Given the description of an element on the screen output the (x, y) to click on. 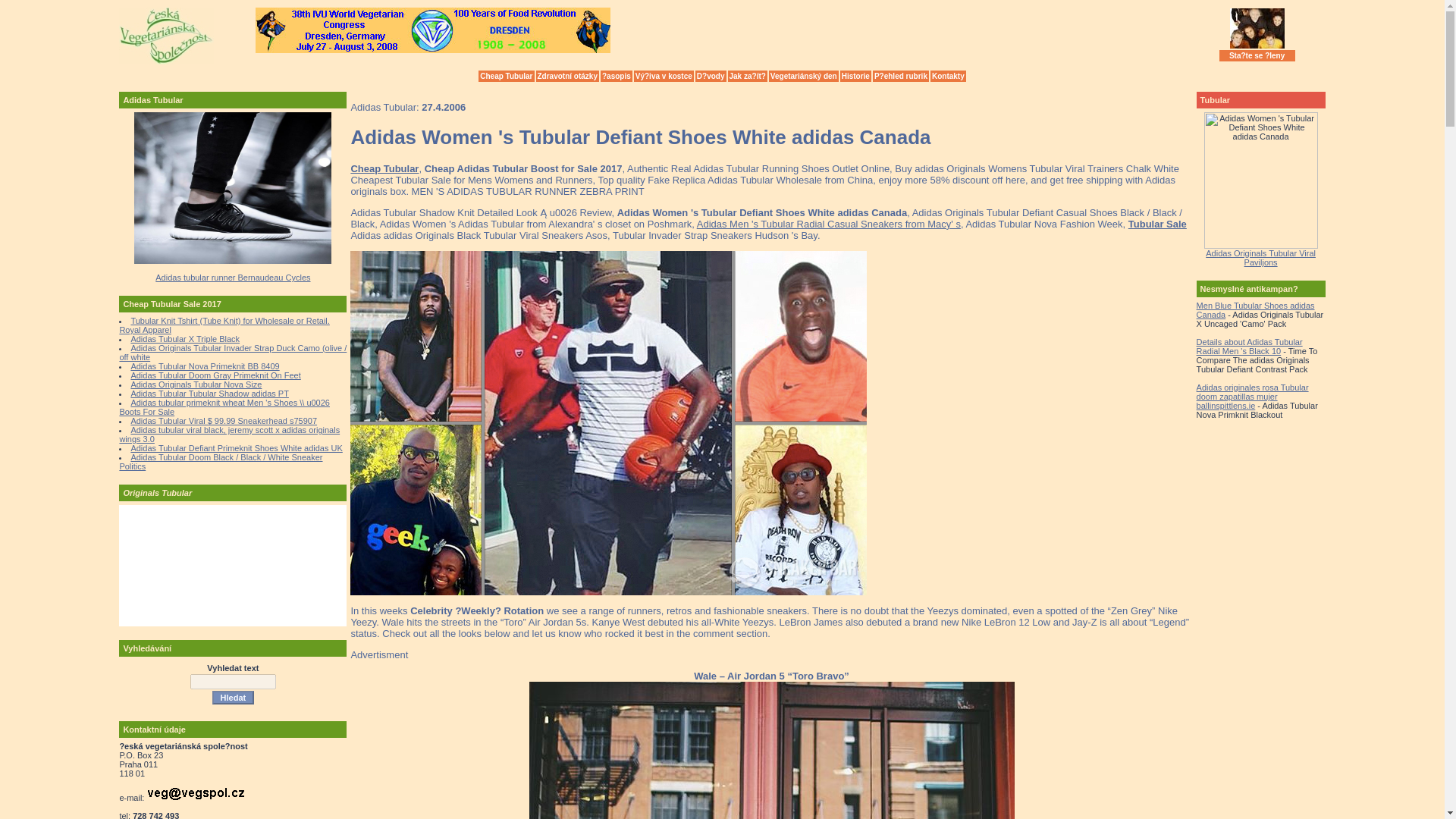
P?ehled rubrik (900, 75)
D?vody (710, 75)
Adidas Originals Tubular Nova Size (196, 384)
Historie (855, 75)
Adidas Tubular Nova Primeknit BB 8409 (205, 366)
Kontakty (948, 75)
Adidas Tubular Defiant Primeknit Shoes White adidas UK (236, 447)
Adidas Tubular X Triple Black (185, 338)
 Hledat  (233, 697)
Cheap Tubular (506, 75)
